Given the description of an element on the screen output the (x, y) to click on. 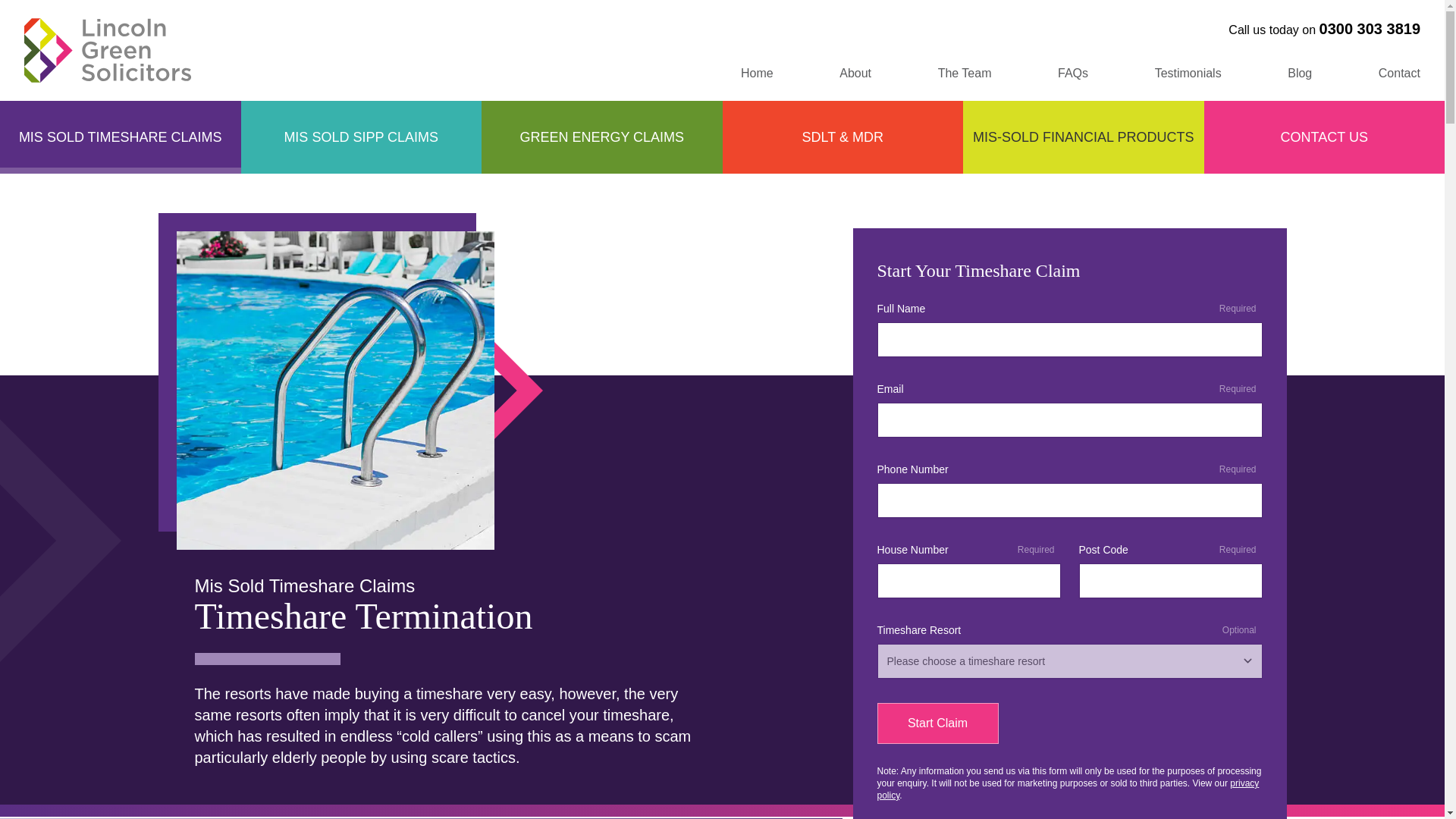
MIS SOLD TIMESHARE CLAIMS (120, 136)
CONTACT US (1324, 136)
Contact (1399, 72)
Home (757, 72)
About (855, 72)
MIS-SOLD FINANCIAL PRODUCTS (1083, 136)
MIS SOLD SIPP CLAIMS (361, 136)
Start Claim (936, 722)
The Team (964, 72)
0300 303 3819 (1370, 28)
Testimonials (1187, 72)
GREEN ENERGY CLAIMS (601, 136)
FAQs (1072, 72)
privacy policy (1067, 789)
Blog (1299, 72)
